Given the description of an element on the screen output the (x, y) to click on. 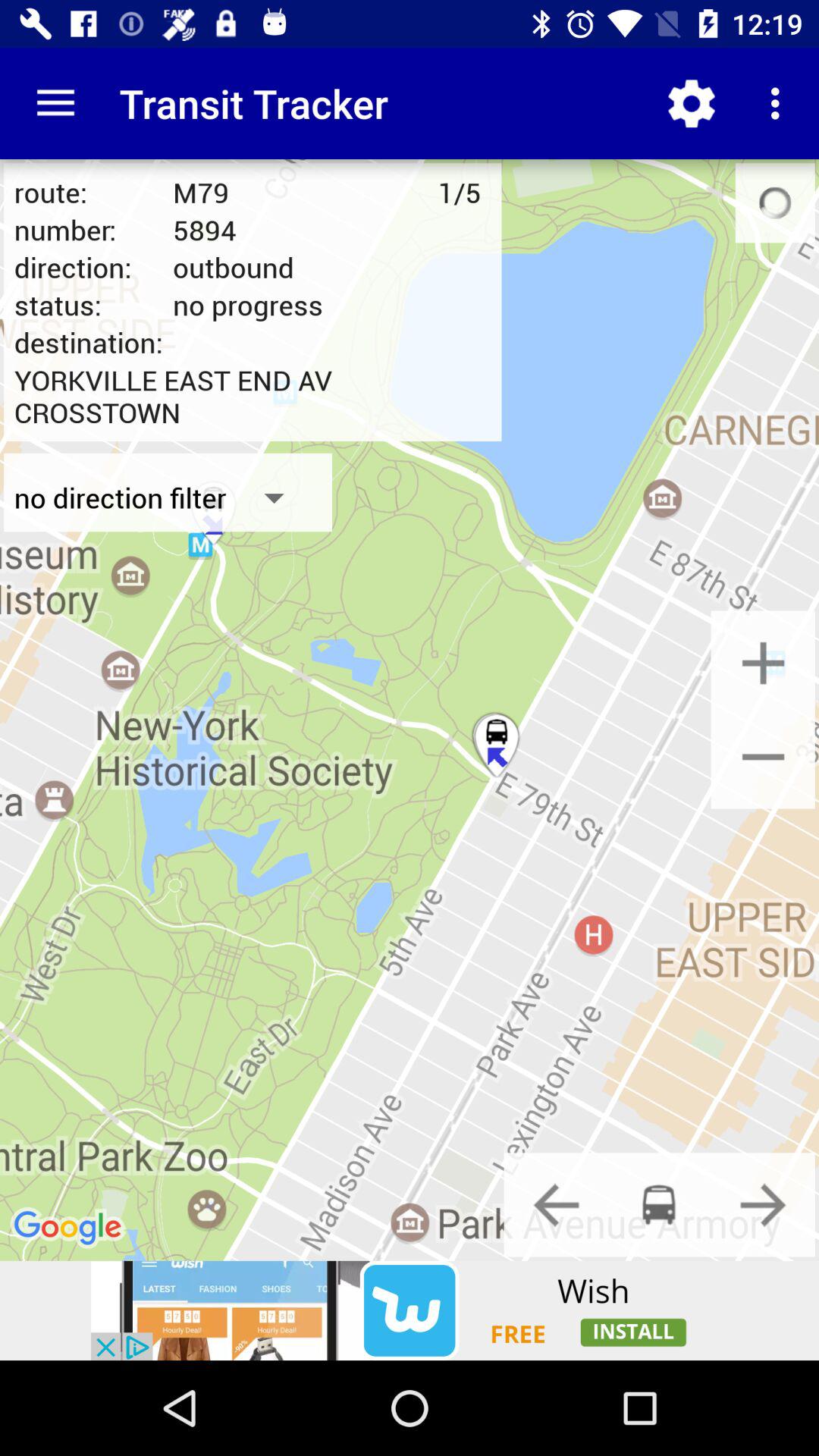
click on  sign (762, 755)
select the icon plus (762, 662)
click on previous button (555, 1204)
select tab no direction filter (168, 497)
select the arrow mark which is showing to the right (762, 1204)
